Given the description of an element on the screen output the (x, y) to click on. 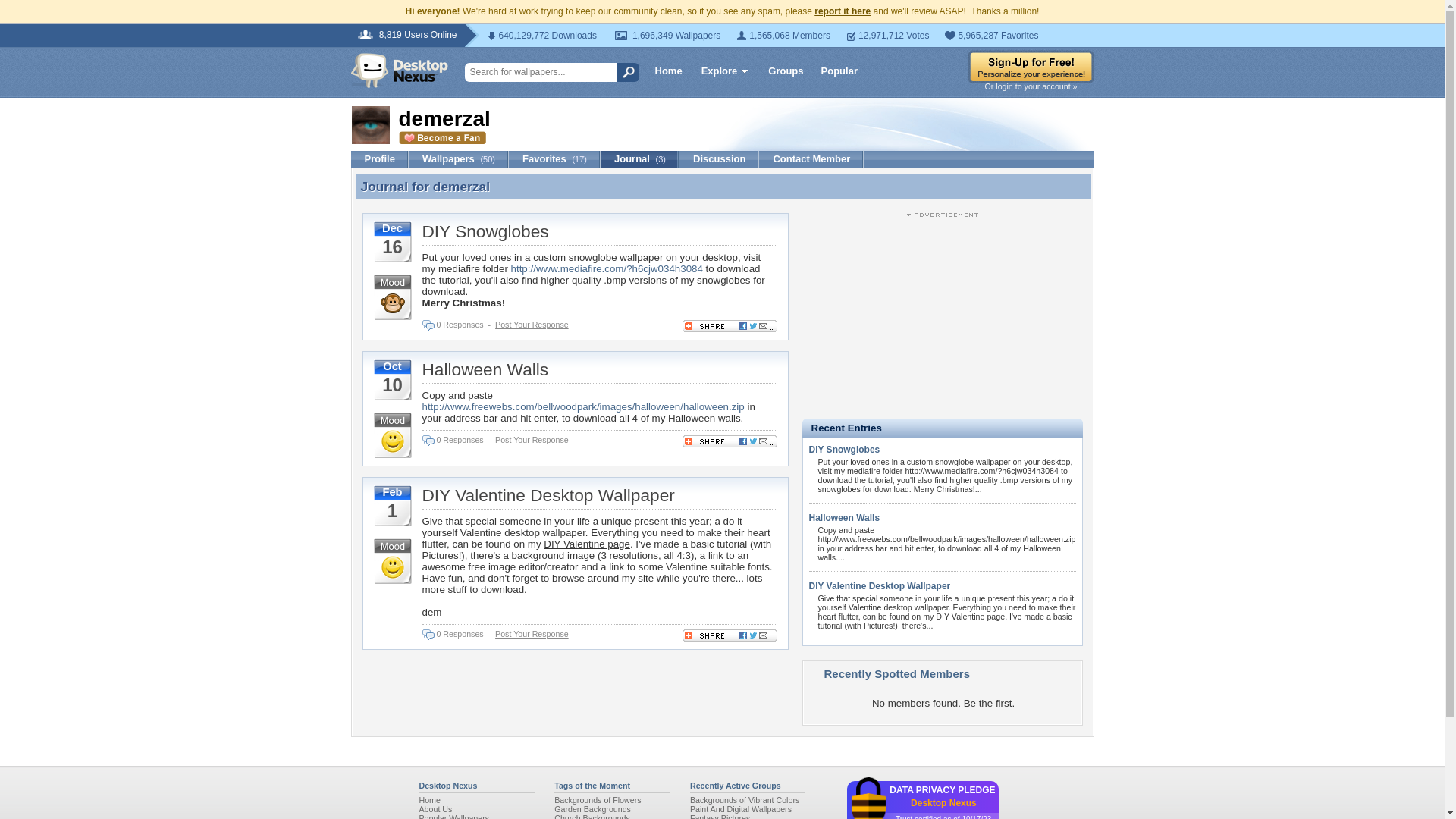
Desktop Nexus Wallpapers (398, 70)
Contact Member (810, 159)
Post Your Response (532, 324)
Popular (838, 70)
Desktop Nexus Wallpapers (398, 70)
DIY Snowglobes (485, 230)
Home (668, 70)
Advertisement (941, 314)
Desktop Nexus Wallpapers (429, 799)
Discussion (718, 159)
About Us (435, 809)
Groups (785, 70)
Profile (378, 159)
report it here (841, 10)
Halloween Walls (485, 369)
